Given the description of an element on the screen output the (x, y) to click on. 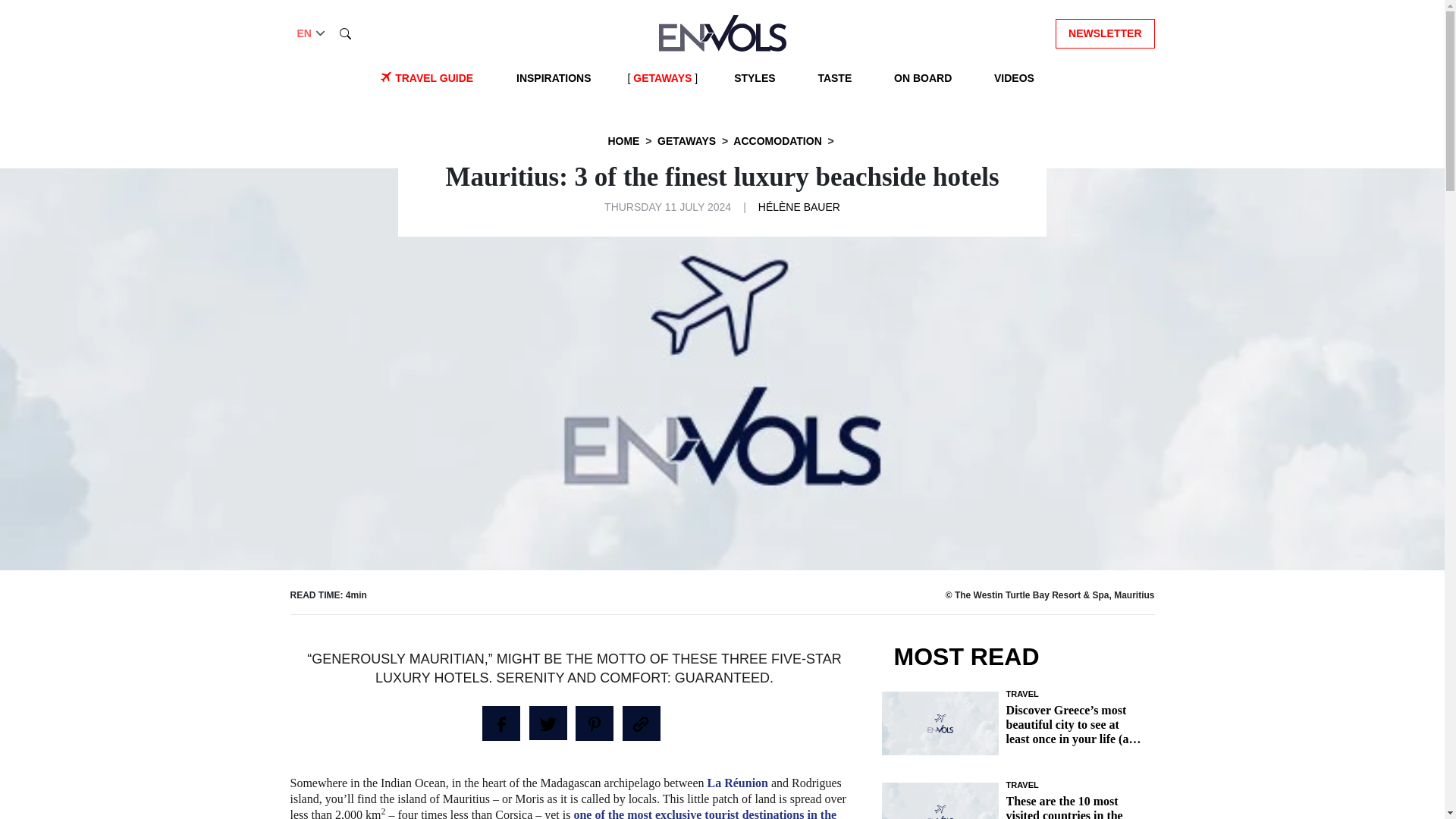
STYLES (754, 78)
TRAVEL GUIDE (433, 78)
NEWSLETTER (1104, 32)
ON BOARD (923, 78)
GETAWAYS (662, 78)
INSPIRATIONS (553, 78)
VIDEOS (1014, 78)
EN (311, 33)
TASTE (833, 78)
